Given the description of an element on the screen output the (x, y) to click on. 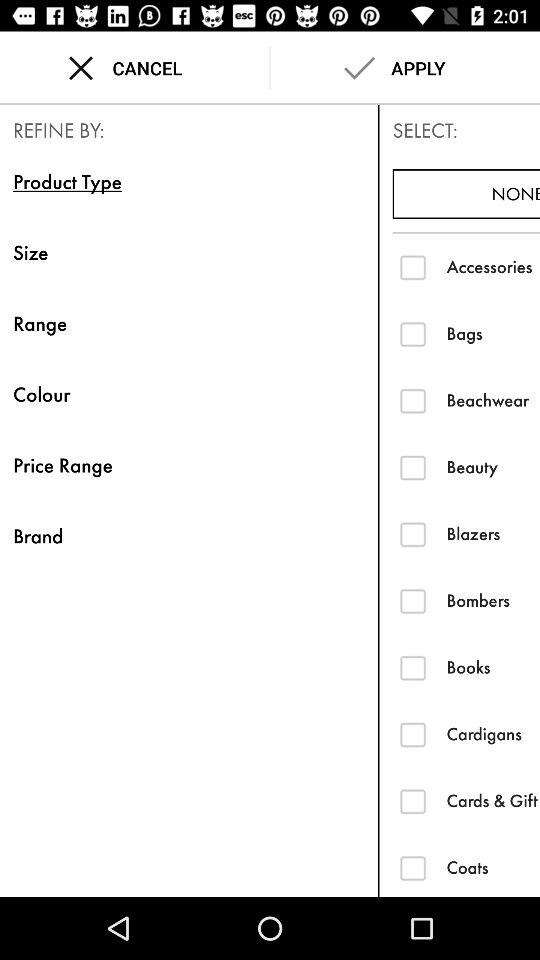
click icon above coats item (493, 800)
